Given the description of an element on the screen output the (x, y) to click on. 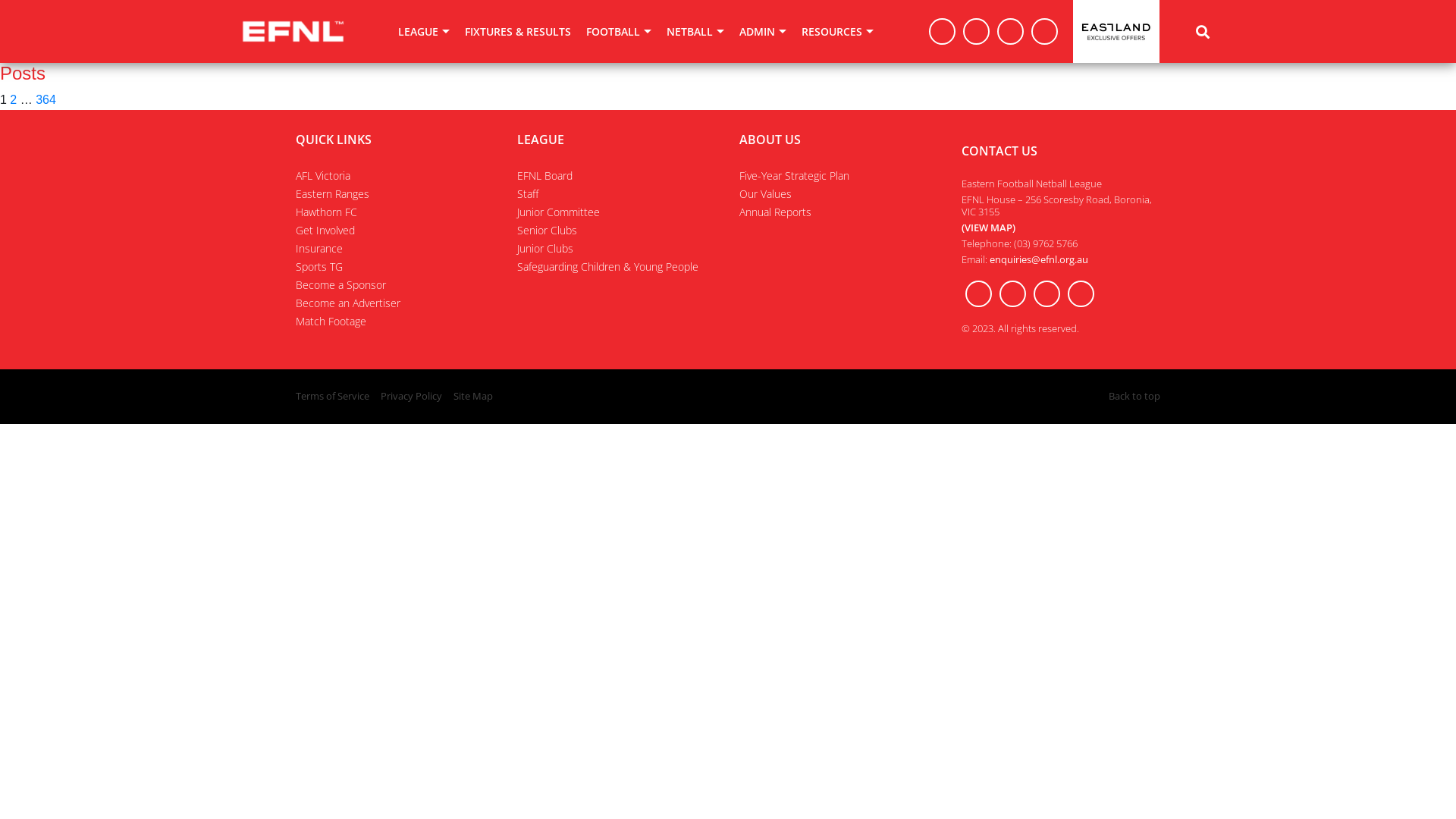
enquiries@efnl.org.au Element type: text (1037, 259)
Get Involved Element type: text (324, 229)
Annual Reports Element type: text (775, 211)
Five-Year Strategic Plan Element type: text (794, 175)
SportsTG Privacy Policy Element type: hover (788, 406)
Search Element type: hover (1202, 30)
FOOTBALL Element type: text (618, 31)
(VIEW MAP) Element type: text (988, 227)
Staff Element type: text (527, 193)
ADMIN Element type: text (762, 31)
Become an Advertiser Element type: text (347, 302)
Junior Clubs Element type: text (545, 248)
EFNL Board Element type: text (544, 175)
Eastern Ranges Element type: text (332, 193)
Page
2 Element type: text (12, 99)
Insurance Element type: text (318, 248)
NETBALL Element type: text (694, 31)
Junior Committee Element type: text (558, 211)
Our Values Element type: text (765, 193)
Match Footage Element type: text (330, 320)
Privacy Policy Element type: text (411, 395)
Terms of Service Element type: text (332, 395)
Back to top Element type: text (1134, 396)
Site Map Element type: text (472, 395)
Sports TG Element type: text (318, 266)
Safeguarding Children & Young People Element type: text (607, 266)
Become a Sponsor Element type: text (340, 284)
RESOURCES Element type: text (837, 31)
AFL Victoria Element type: text (322, 175)
FIXTURES & RESULTS Element type: text (517, 31)
Page
364 Element type: text (45, 99)
Hawthorn FC Element type: text (326, 211)
Powered by SportsTG Element type: hover (788, 396)
Senior Clubs Element type: text (547, 229)
LEAGUE Element type: text (423, 31)
